Given the description of an element on the screen output the (x, y) to click on. 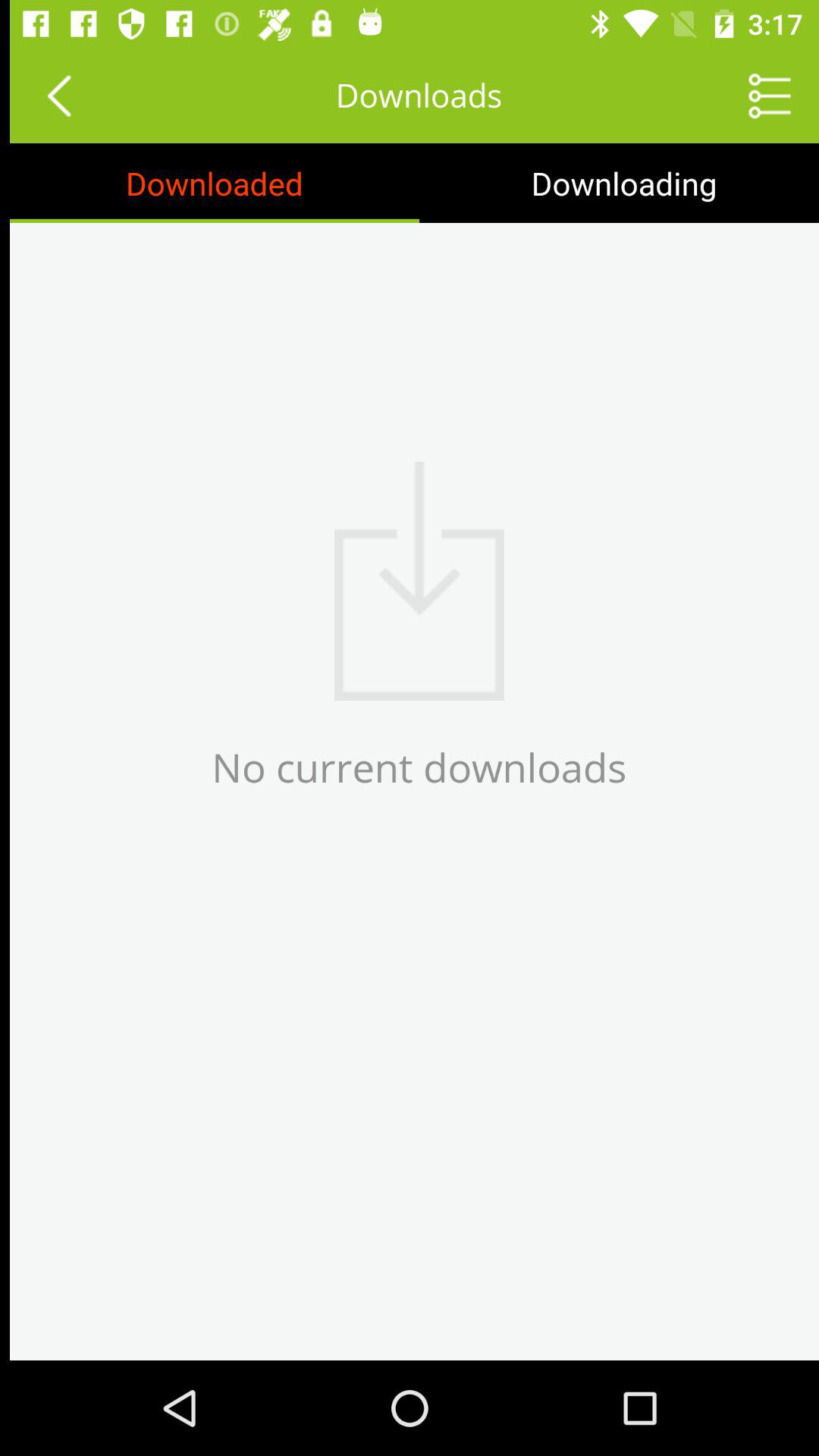
turn off the icon to the left of downloads item (48, 95)
